Given the description of an element on the screen output the (x, y) to click on. 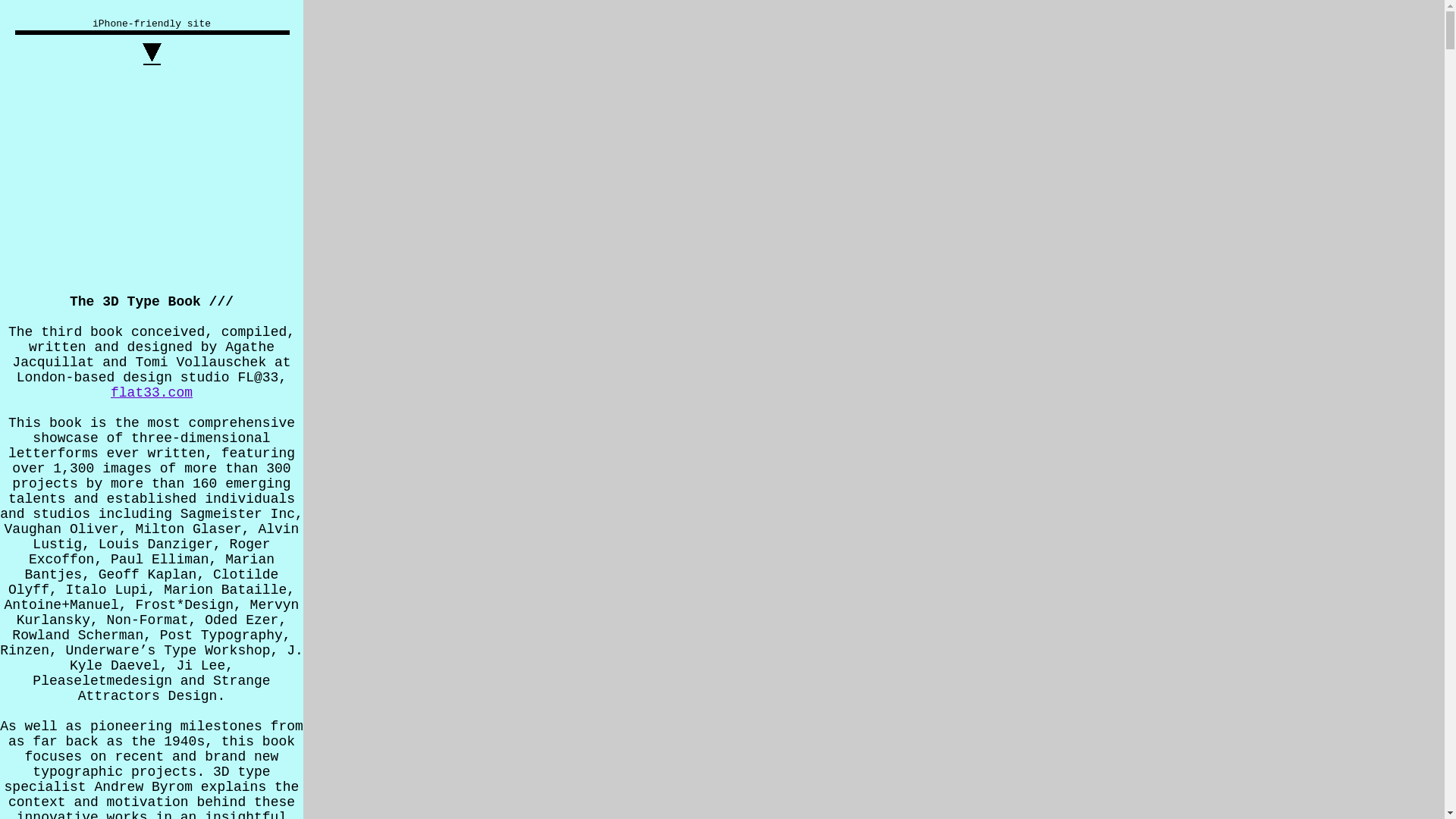
flat33.com Element type: text (151, 392)
